Given the description of an element on the screen output the (x, y) to click on. 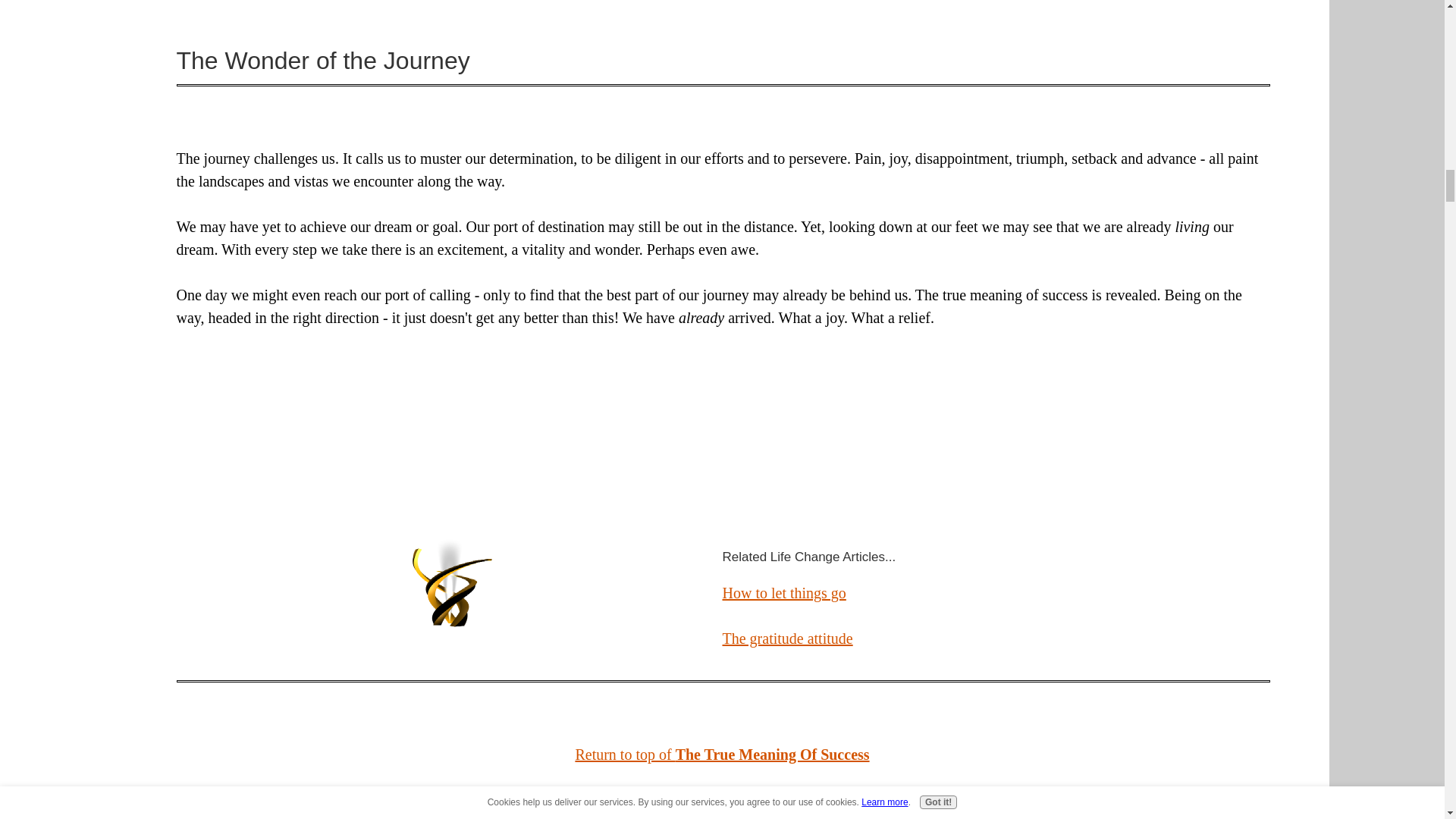
For more Self Improvement Ideas (721, 799)
Return to top of The True Meaning Of Success (722, 754)
The gratitude attitude (786, 638)
How to let things go (783, 592)
